Given the description of an element on the screen output the (x, y) to click on. 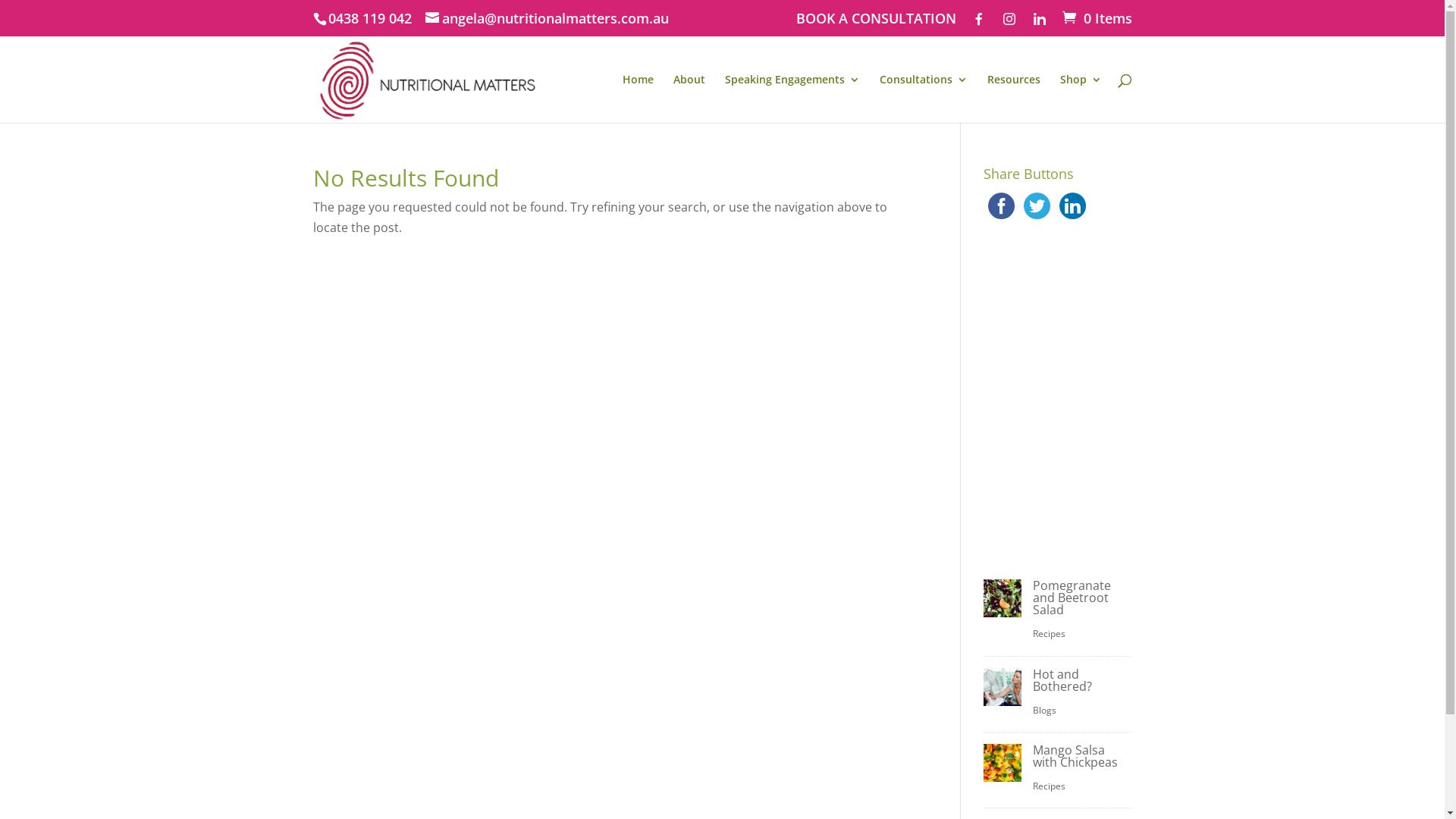
Pomegranate and Beetroot Salad Element type: text (1071, 597)
Hot and Bothered? Element type: text (1062, 679)
Blogs Element type: text (1044, 709)
Recipes Element type: text (1048, 633)
Home Element type: text (636, 98)
About Element type: text (689, 98)
facebook Element type: hover (1001, 205)
BOOK A CONSULTATION Element type: text (876, 22)
Mango Salsa with Chickpeas Element type: text (1074, 755)
Resources Element type: text (1013, 98)
Consultations Element type: text (923, 98)
angela@nutritionalmatters.com.au Element type: text (546, 18)
Speaking Engagements Element type: text (791, 98)
0 Items Element type: text (1095, 18)
Recipes Element type: text (1048, 785)
linkedin Element type: hover (1072, 205)
Shop Element type: text (1080, 98)
twitter Element type: hover (1036, 205)
